Given the description of an element on the screen output the (x, y) to click on. 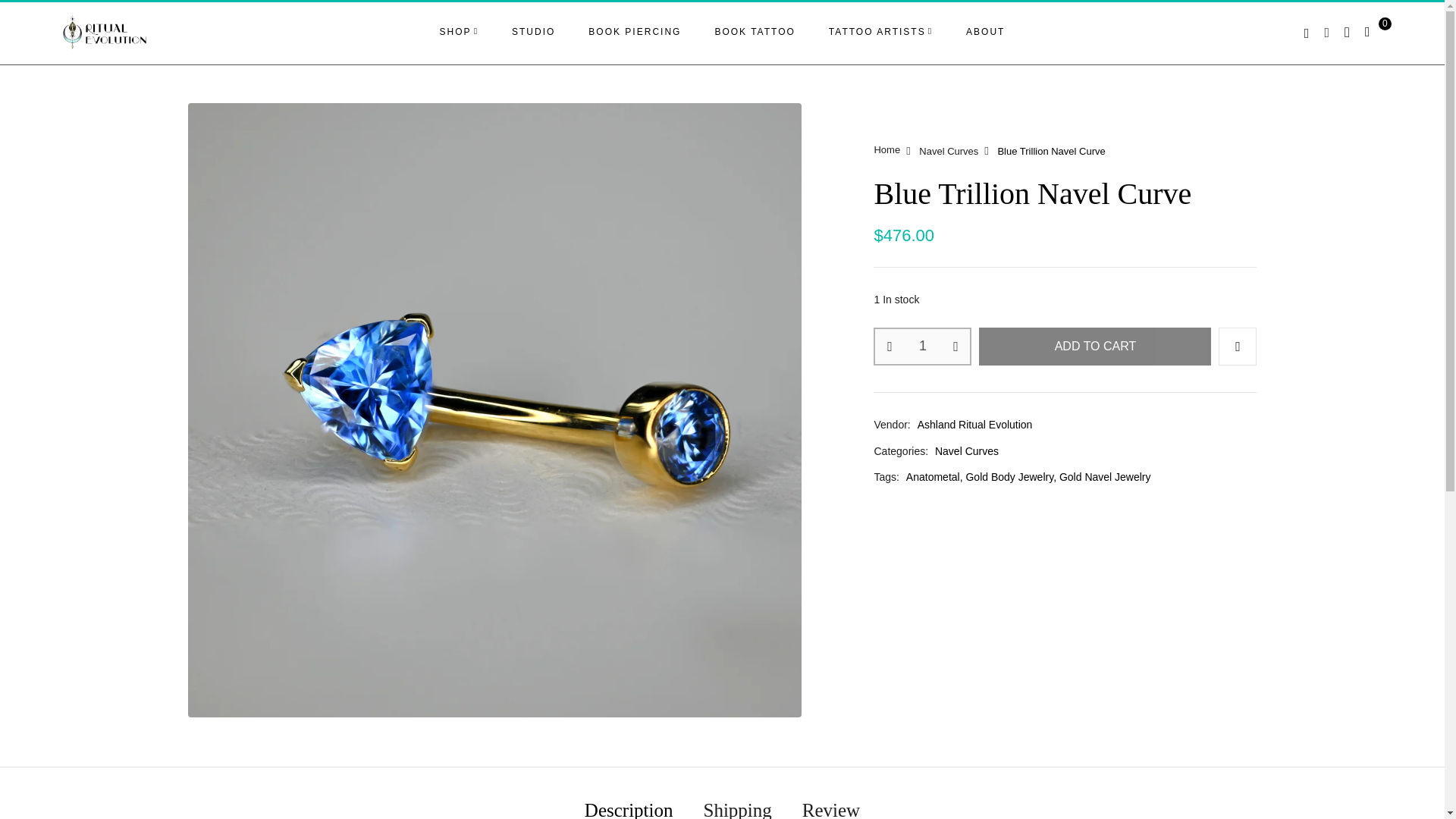
0 (1373, 31)
BOOK TATTOO (754, 31)
Sign In (1198, 214)
Book Tattoo (754, 31)
SHOP (459, 31)
STUDIO (533, 31)
Tattoo Artists (880, 31)
Studio (533, 31)
Shop (459, 31)
About (985, 31)
